Given the description of an element on the screen output the (x, y) to click on. 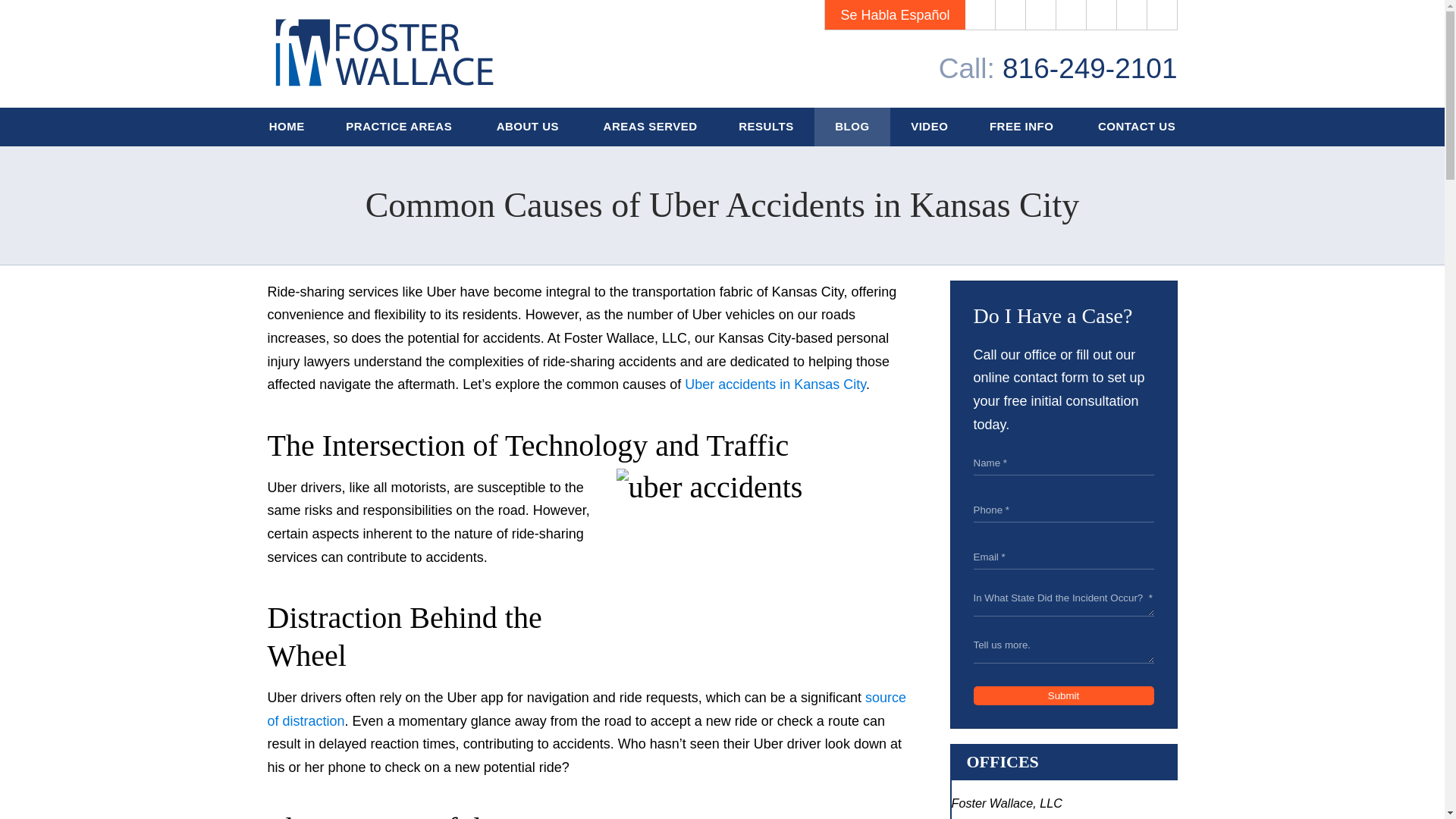
AREAS SERVED (649, 126)
Search (1161, 15)
ABOUT US (529, 126)
PRACTICE AREAS (400, 126)
HOME (287, 126)
